Given the description of an element on the screen output the (x, y) to click on. 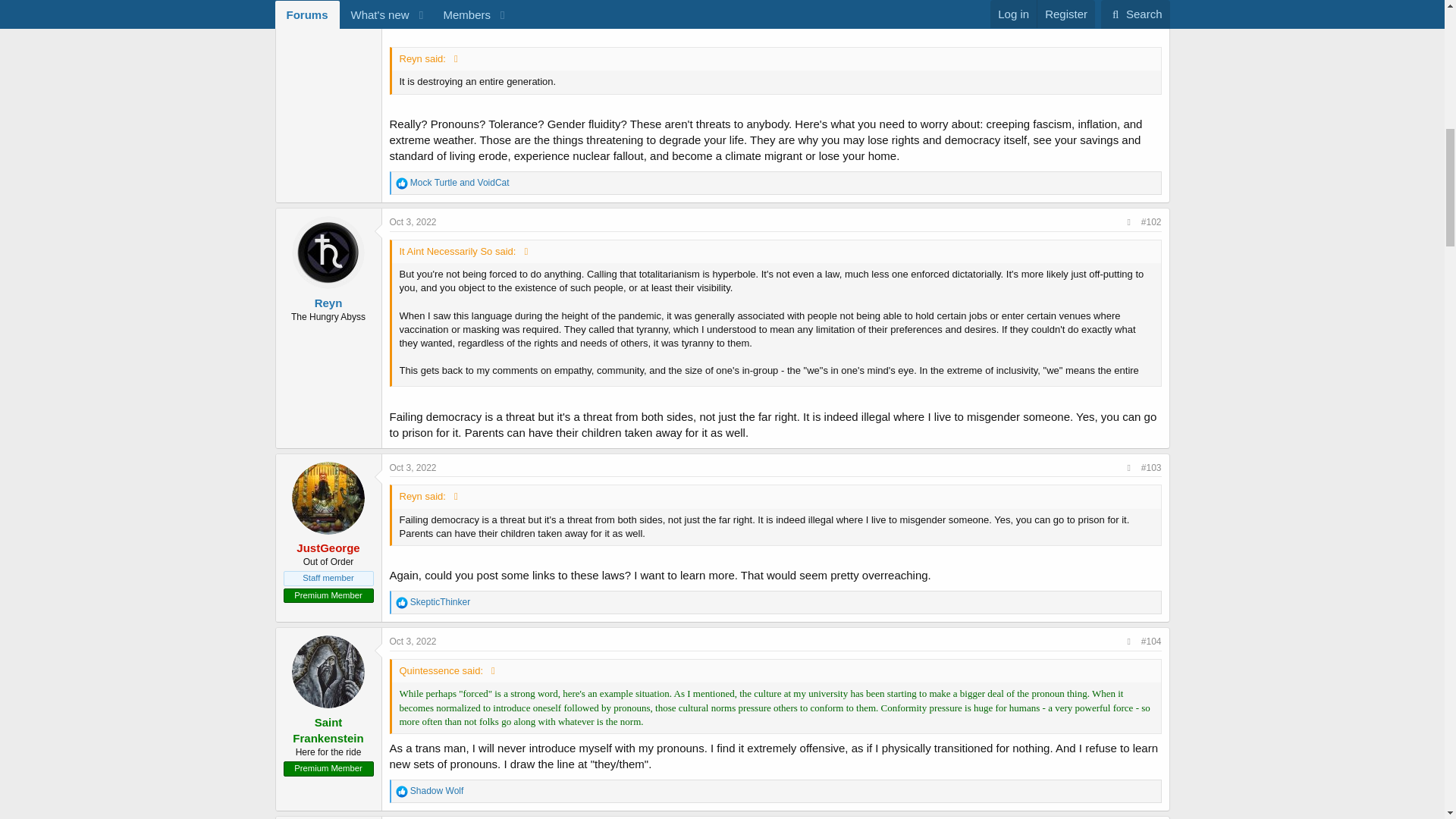
Oct 3, 2022 at 1:41 PM (413, 222)
Like (401, 183)
Like (401, 603)
Oct 3, 2022 at 4:11 PM (413, 467)
Oct 3, 2022 at 4:50 PM (413, 641)
Like (401, 791)
